Given the description of an element on the screen output the (x, y) to click on. 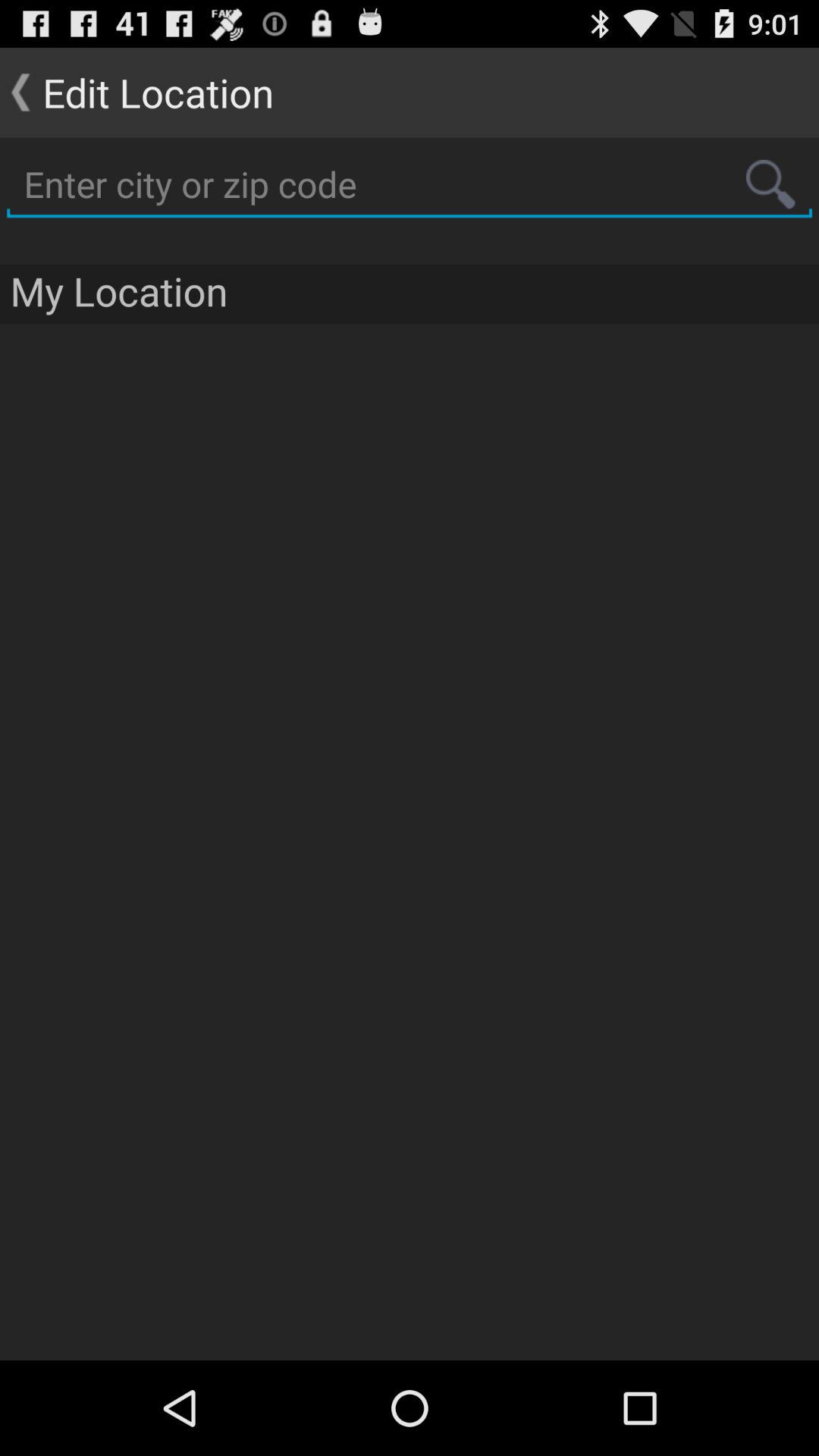
scroll until edit location item (137, 91)
